Given the description of an element on the screen output the (x, y) to click on. 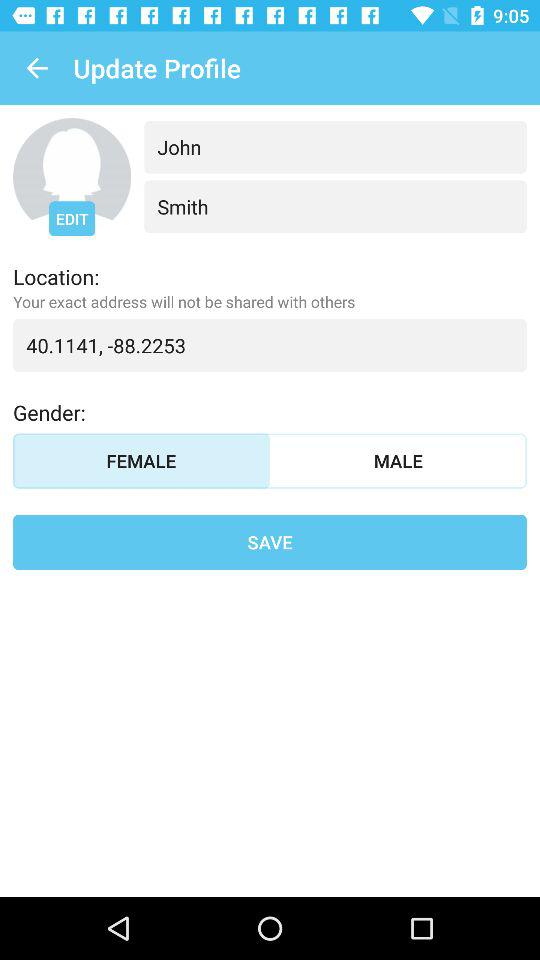
turn off female on the left (141, 460)
